Given the description of an element on the screen output the (x, y) to click on. 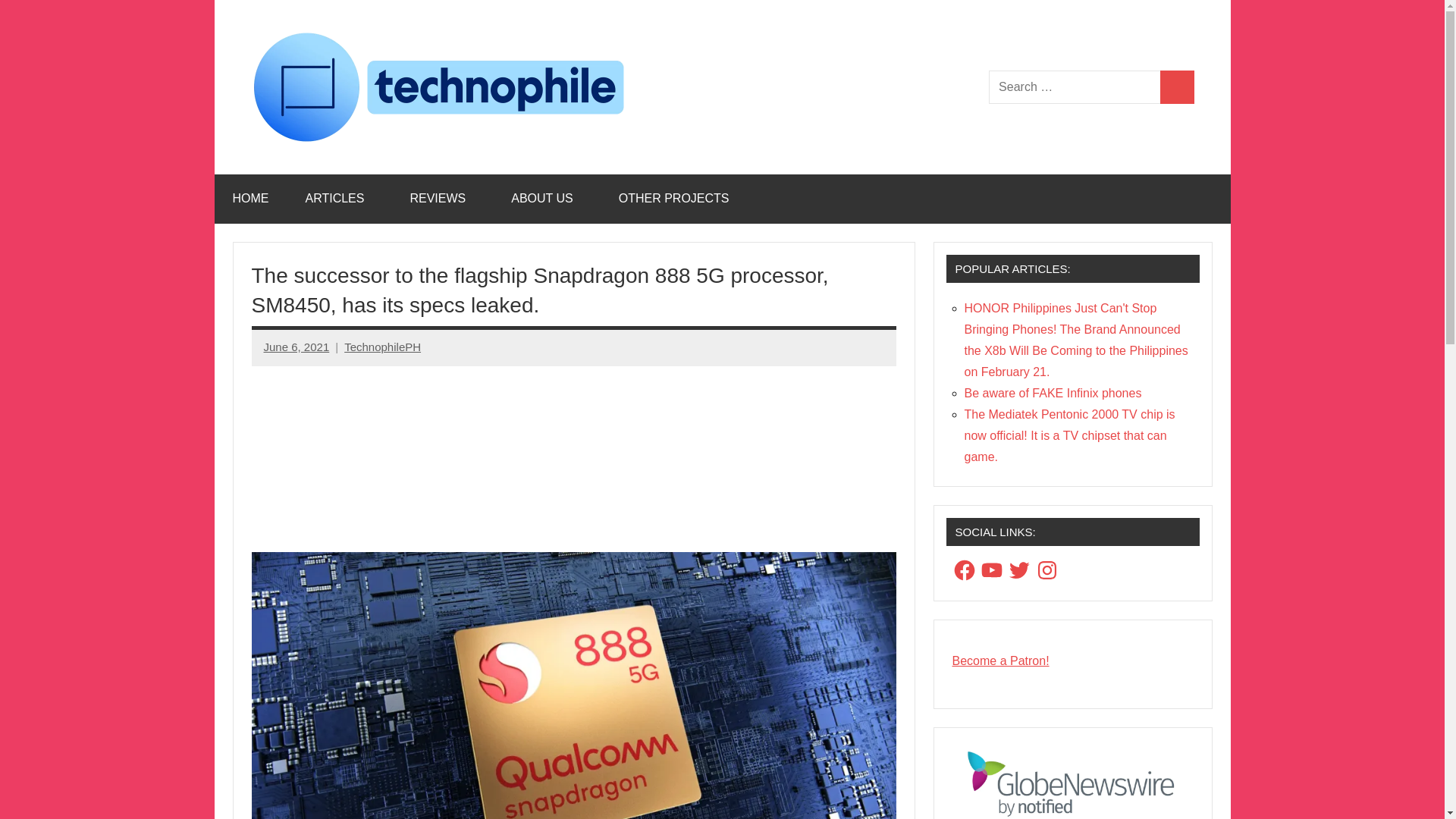
OTHER PROJECTS (678, 198)
June 6, 2021 (296, 346)
TechnophilePH (381, 346)
REVIEWS (442, 198)
Search for: (1074, 87)
HOME (250, 198)
Advertisement (573, 453)
View all posts by TechnophilePH (381, 346)
ABOUT US (546, 198)
ARTICLES (338, 198)
Search (1176, 87)
